Given the description of an element on the screen output the (x, y) to click on. 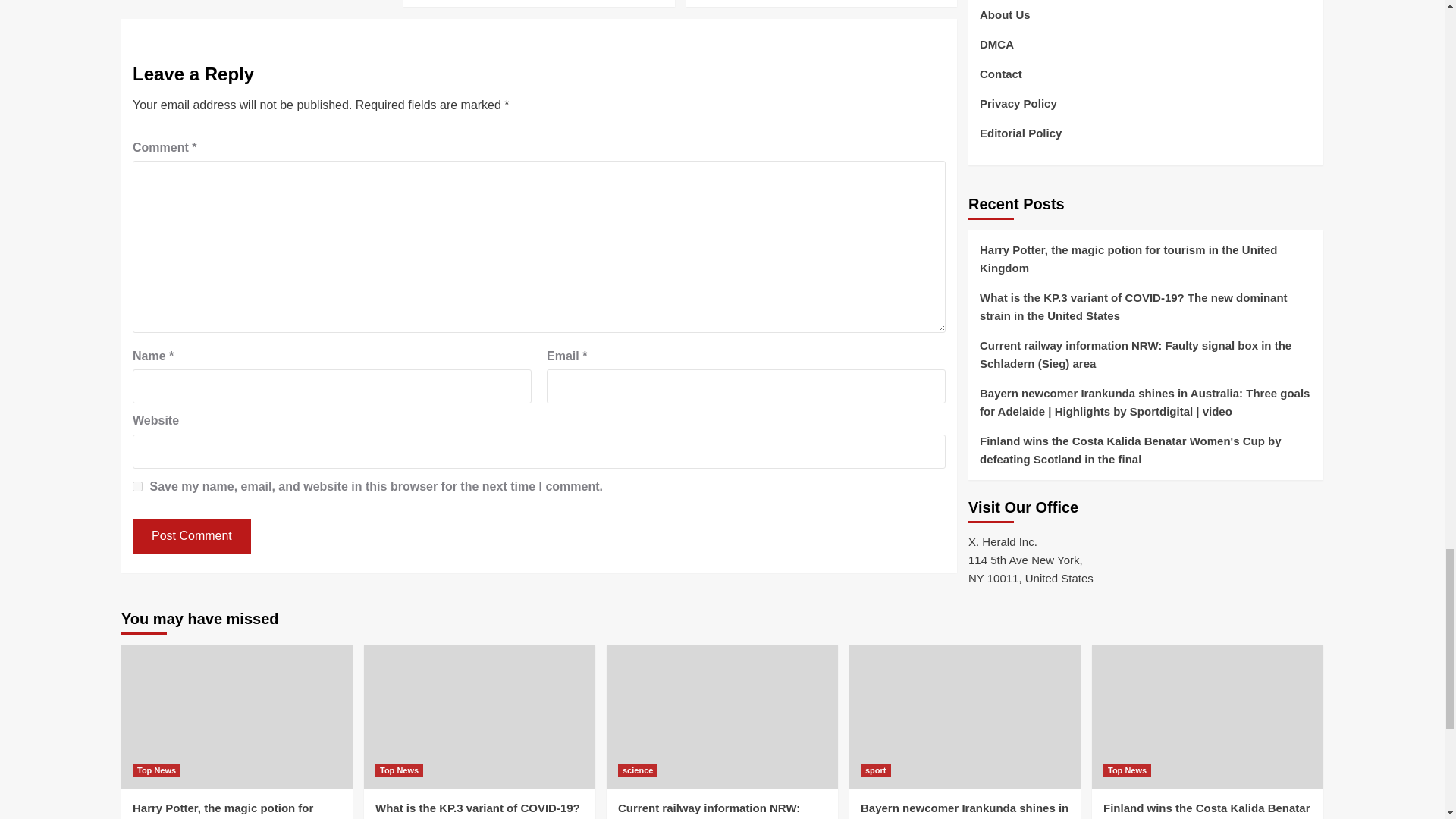
yes (137, 486)
Post Comment (191, 536)
